Given the description of an element on the screen output the (x, y) to click on. 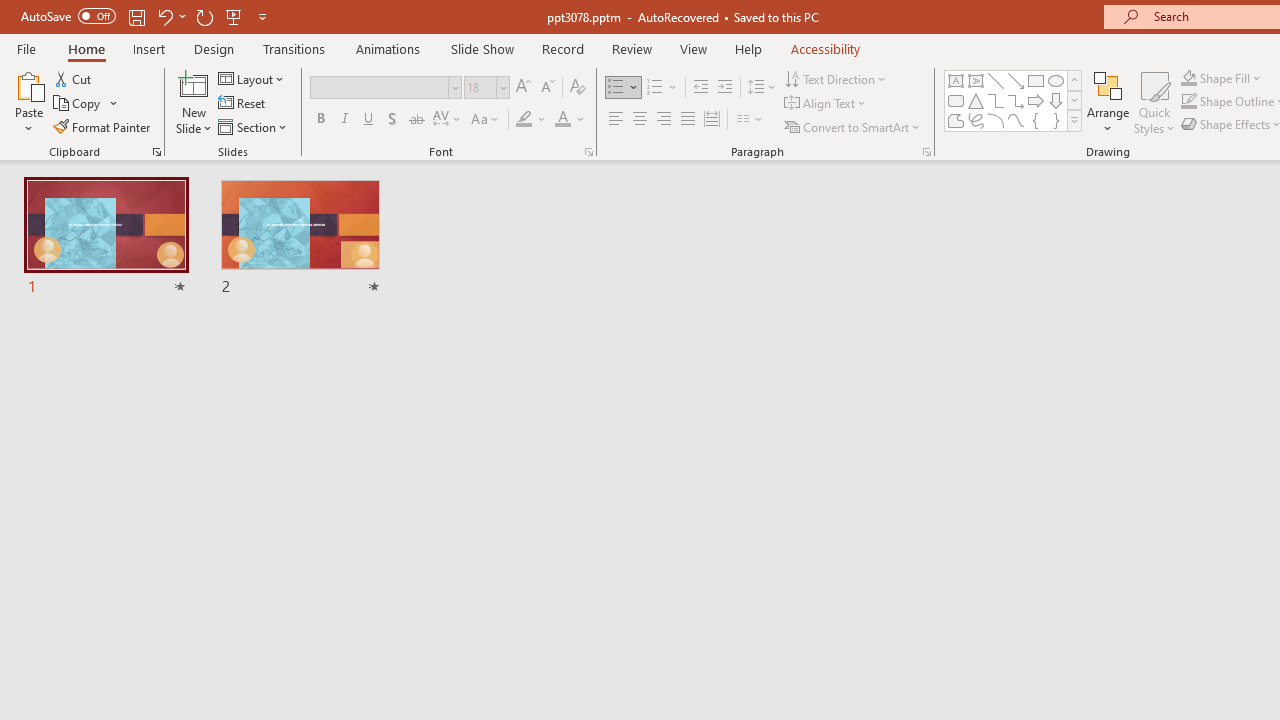
Shape Outline Green, Accent 1 (1188, 101)
